Given the description of an element on the screen output the (x, y) to click on. 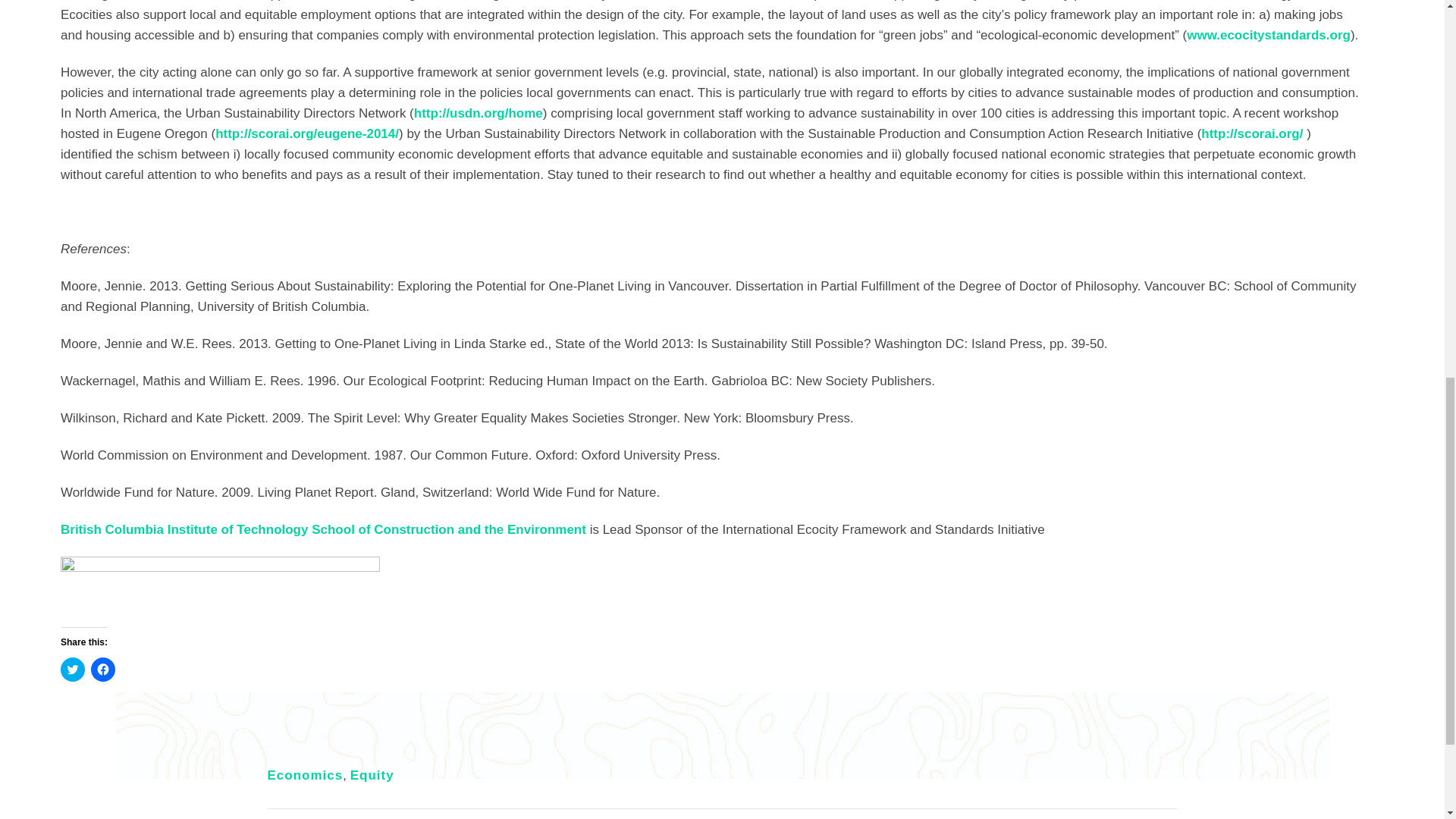
Click to share on Facebook (102, 669)
Click to share on Twitter (72, 669)
